Given the description of an element on the screen output the (x, y) to click on. 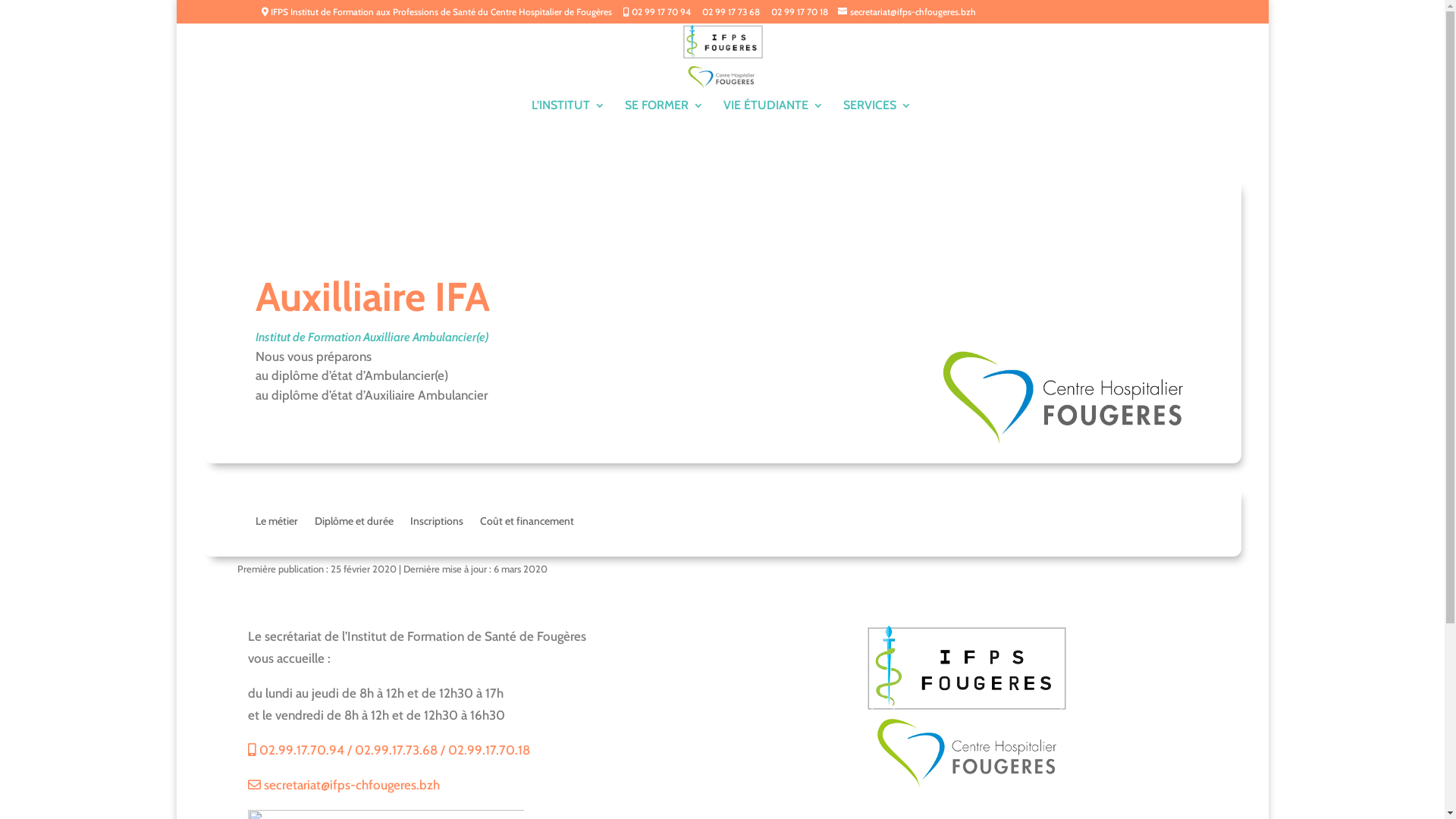
Inscriptions Element type: text (436, 523)
secretariat@ifps-chfougeres.bzh Element type: text (343, 784)
secretariat@ifps-chfougeres.bzh Element type: text (906, 11)
SERVICES Element type: text (877, 111)
SE FORMER Element type: text (663, 111)
logos-fougeres-ifps-ch Element type: hover (966, 709)
